Given the description of an element on the screen output the (x, y) to click on. 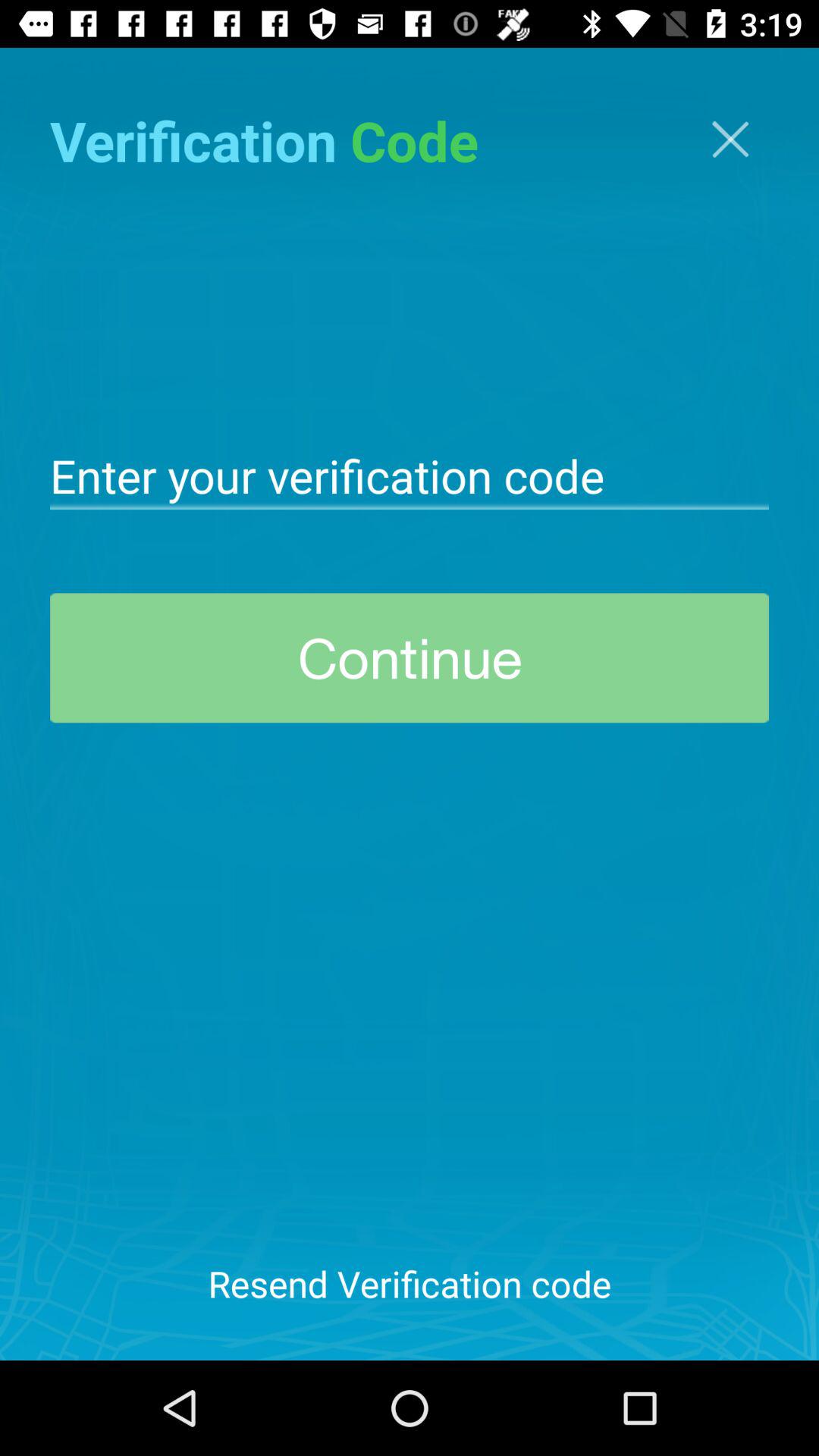
close page (730, 139)
